Given the description of an element on the screen output the (x, y) to click on. 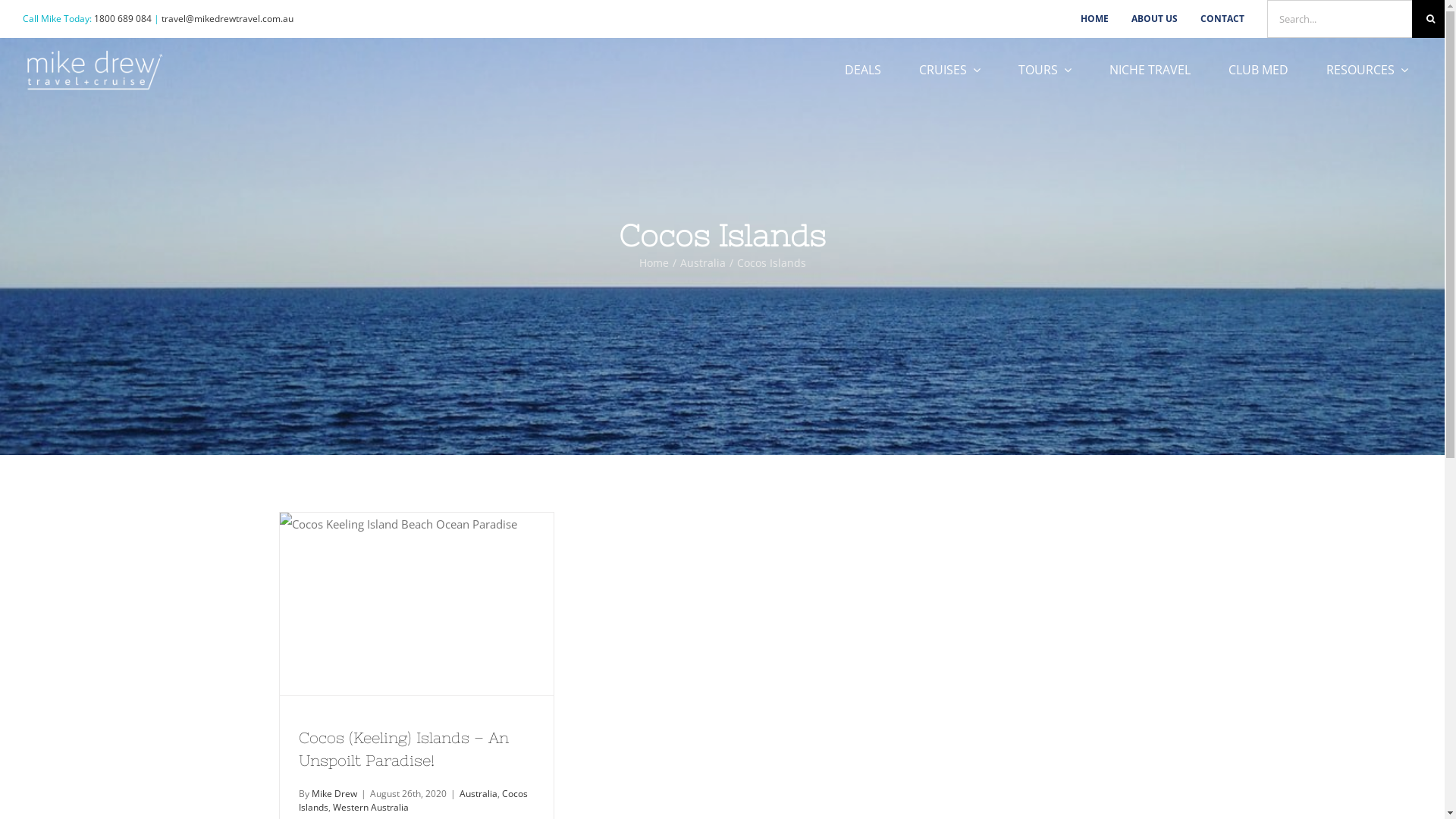
CRUISES Element type: text (949, 69)
1800 689 084 Element type: text (122, 18)
Western Australia Element type: text (369, 806)
CLUB MED Element type: text (1258, 69)
DEALS Element type: text (862, 69)
RESOURCES Element type: text (1367, 69)
Australia Element type: text (478, 793)
Australia Element type: text (701, 262)
Mike Drew Element type: text (333, 793)
ABOUT US Element type: text (1154, 18)
HOME Element type: text (1094, 18)
Cocos Islands Element type: text (412, 800)
NICHE TRAVEL Element type: text (1149, 69)
CONTACT Element type: text (1222, 18)
TOURS Element type: text (1044, 69)
travel@mikedrewtravel.com.au Element type: text (227, 18)
Home Element type: text (653, 262)
